Given the description of an element on the screen output the (x, y) to click on. 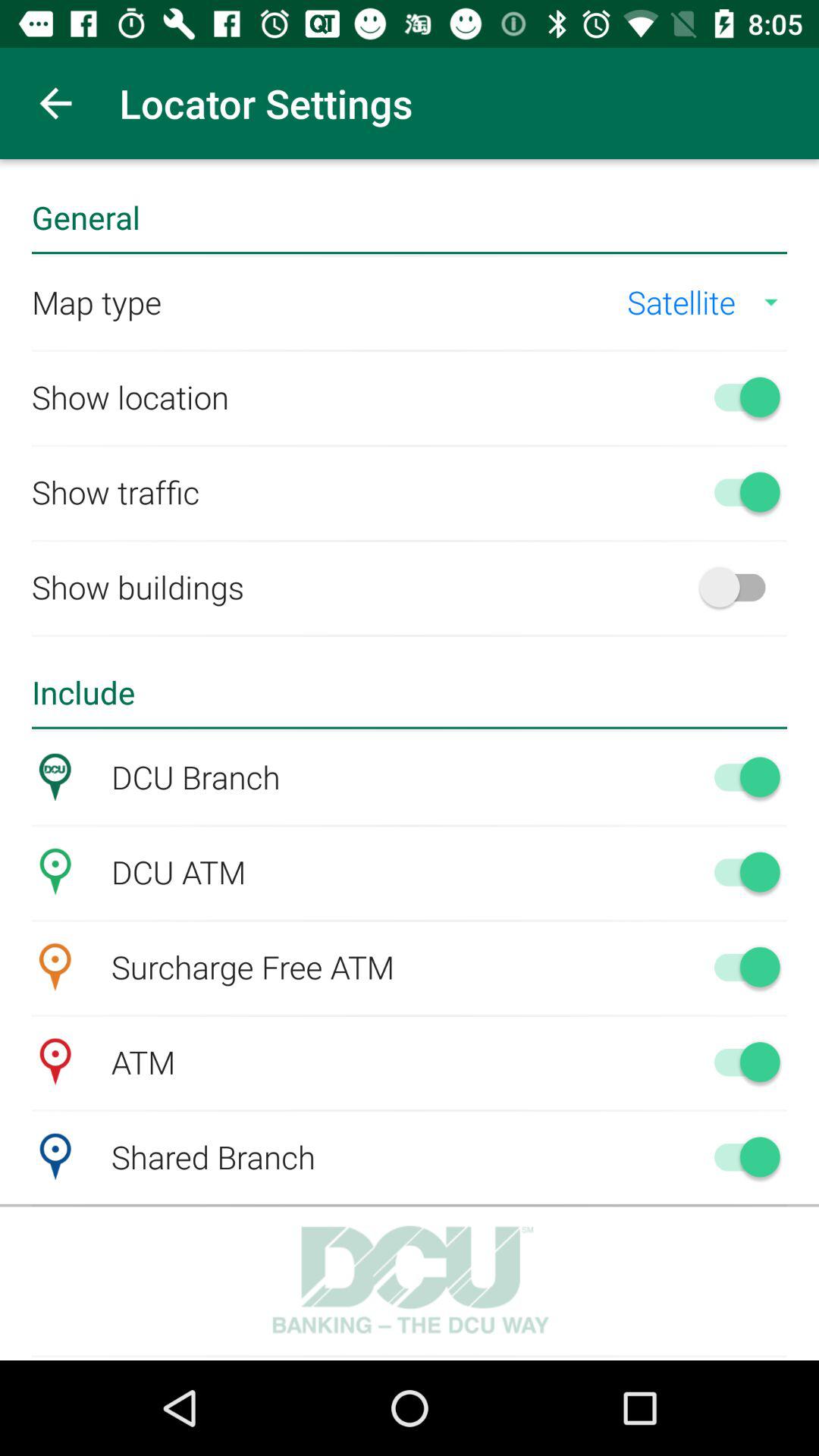
toggle show traffic option (739, 491)
